Given the description of an element on the screen output the (x, y) to click on. 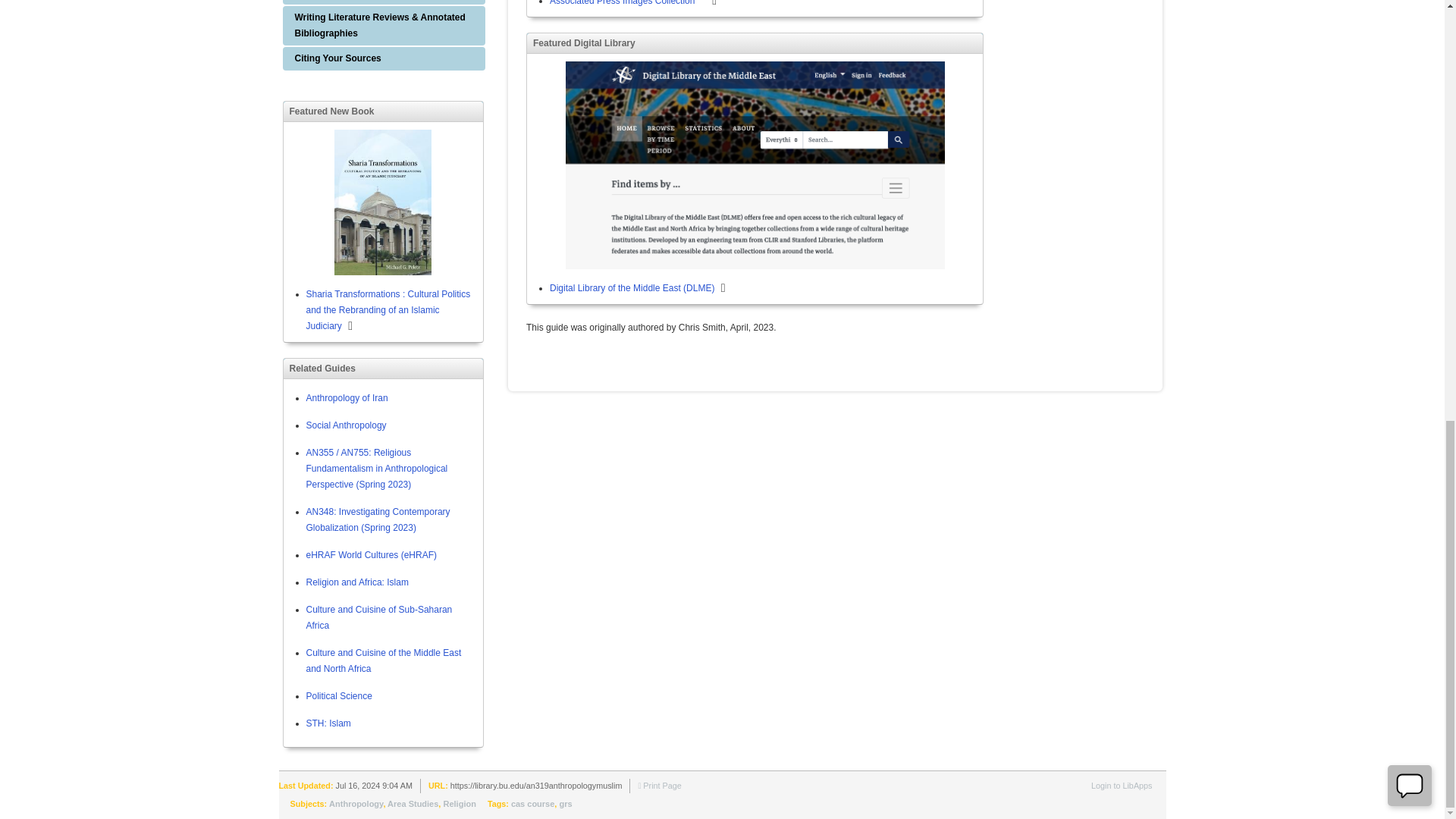
Citing Your Sources (383, 58)
Developing Your Research Topic (383, 2)
